Given the description of an element on the screen output the (x, y) to click on. 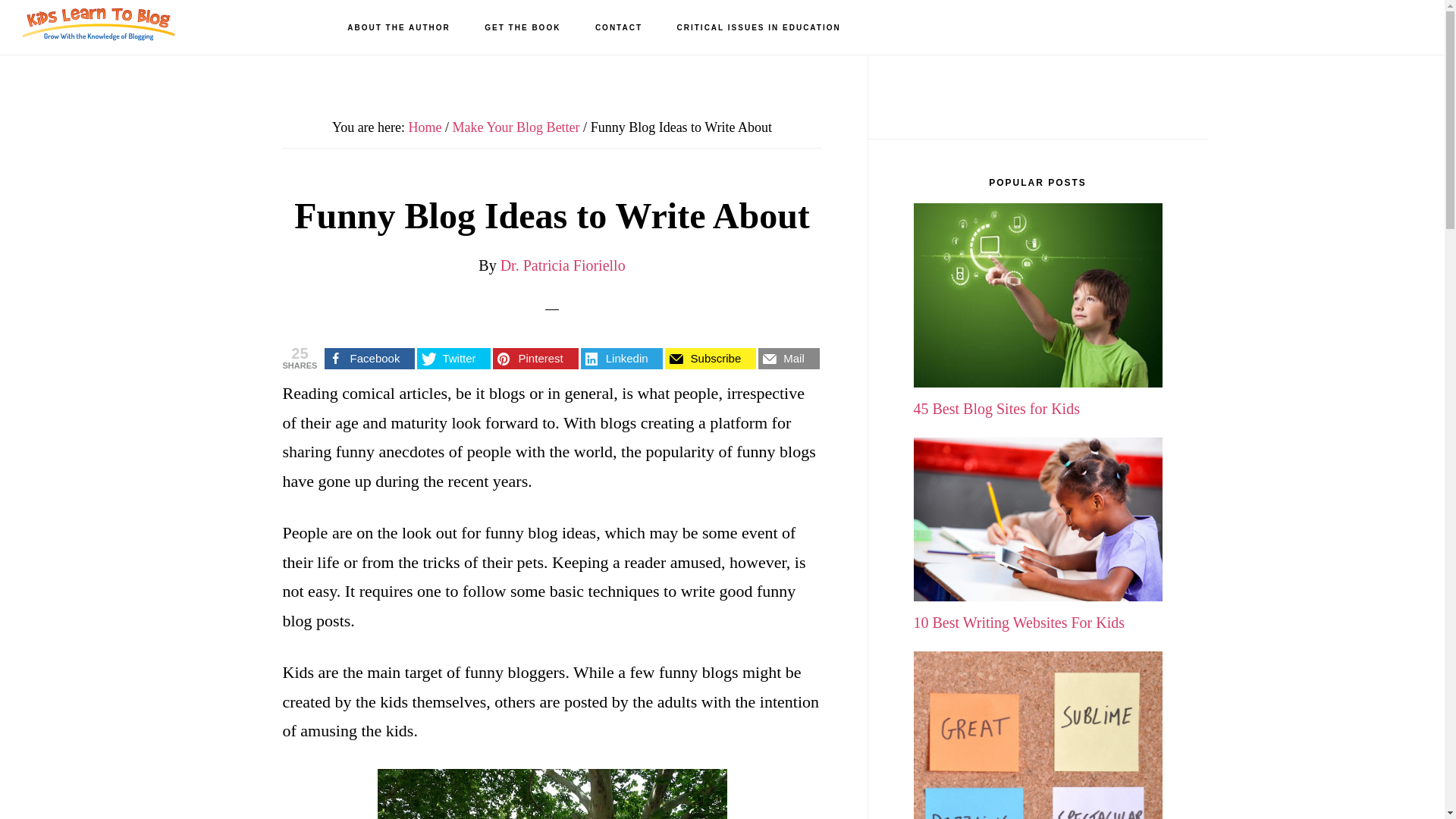
45 Best Blog Sites for Kids (1036, 394)
GET THE BOOK (521, 27)
10 Best Writing Websites For Kids (1036, 609)
KIDS LEARN TO BLOG (98, 26)
Subscribe (710, 358)
funny idea blog (551, 794)
Make Your Blog Better (515, 127)
Home (425, 127)
Facebook (369, 358)
